Given the description of an element on the screen output the (x, y) to click on. 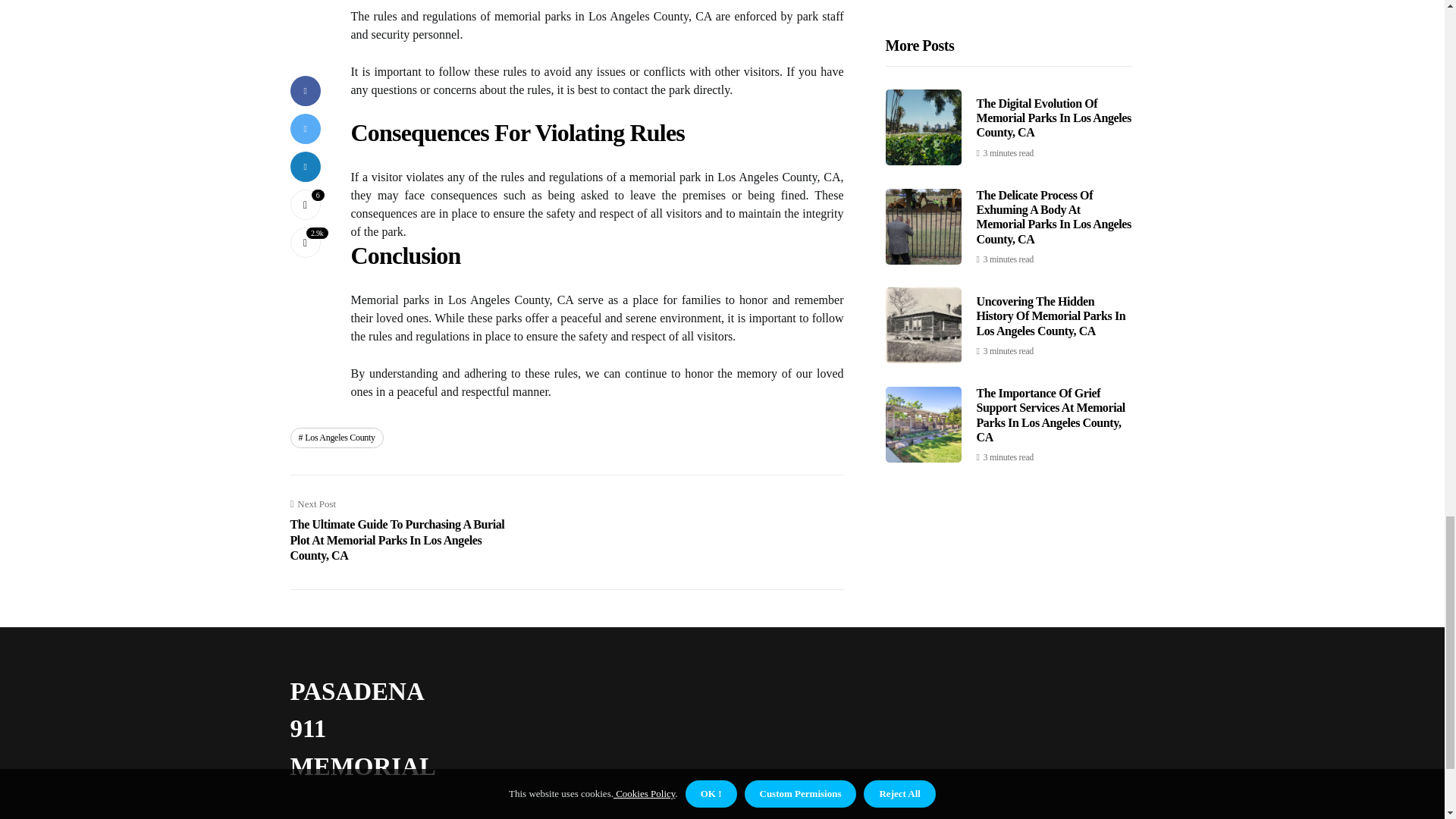
Los Angeles County (335, 437)
